Given the description of an element on the screen output the (x, y) to click on. 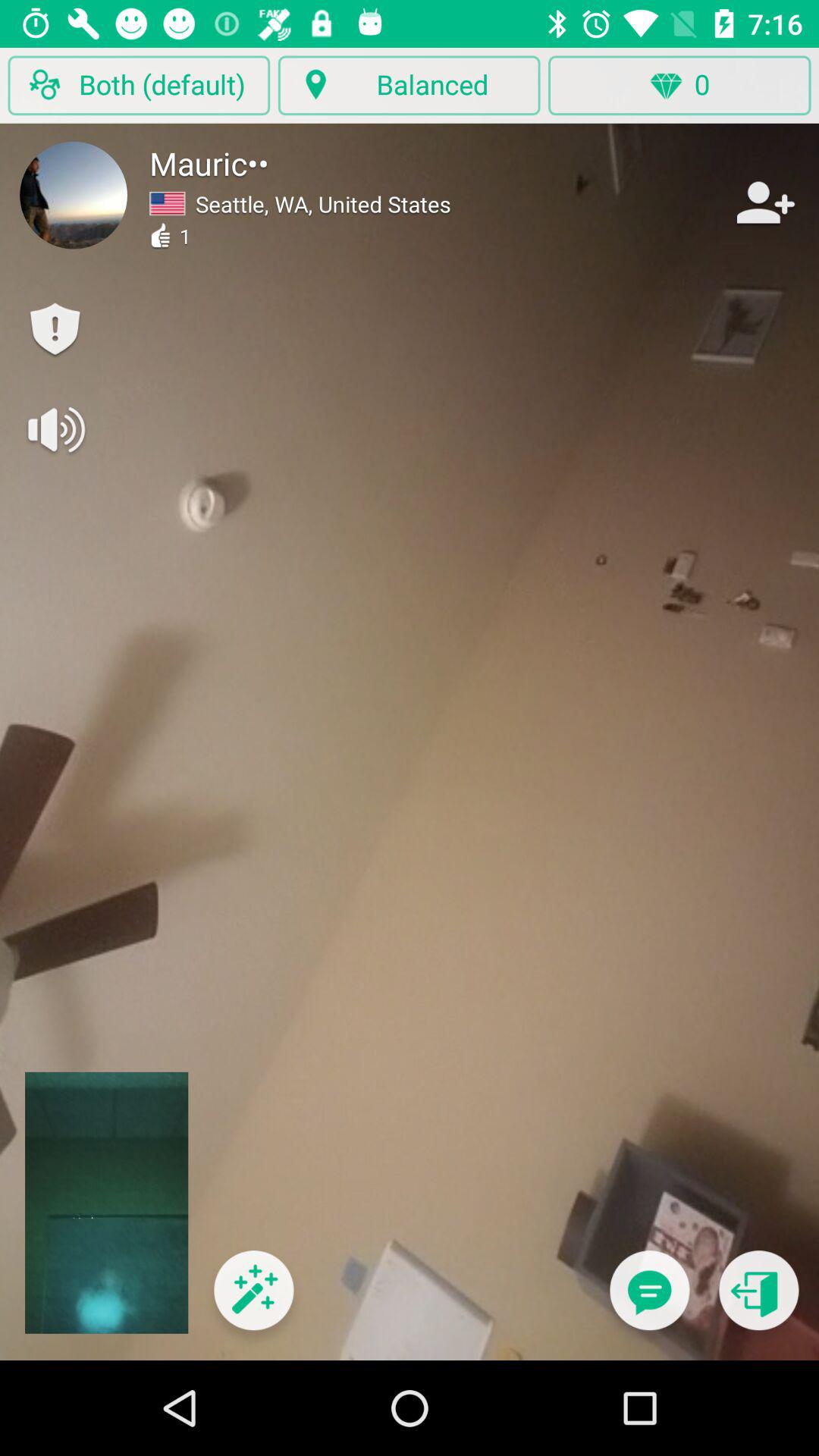
close (758, 1300)
